Given the description of an element on the screen output the (x, y) to click on. 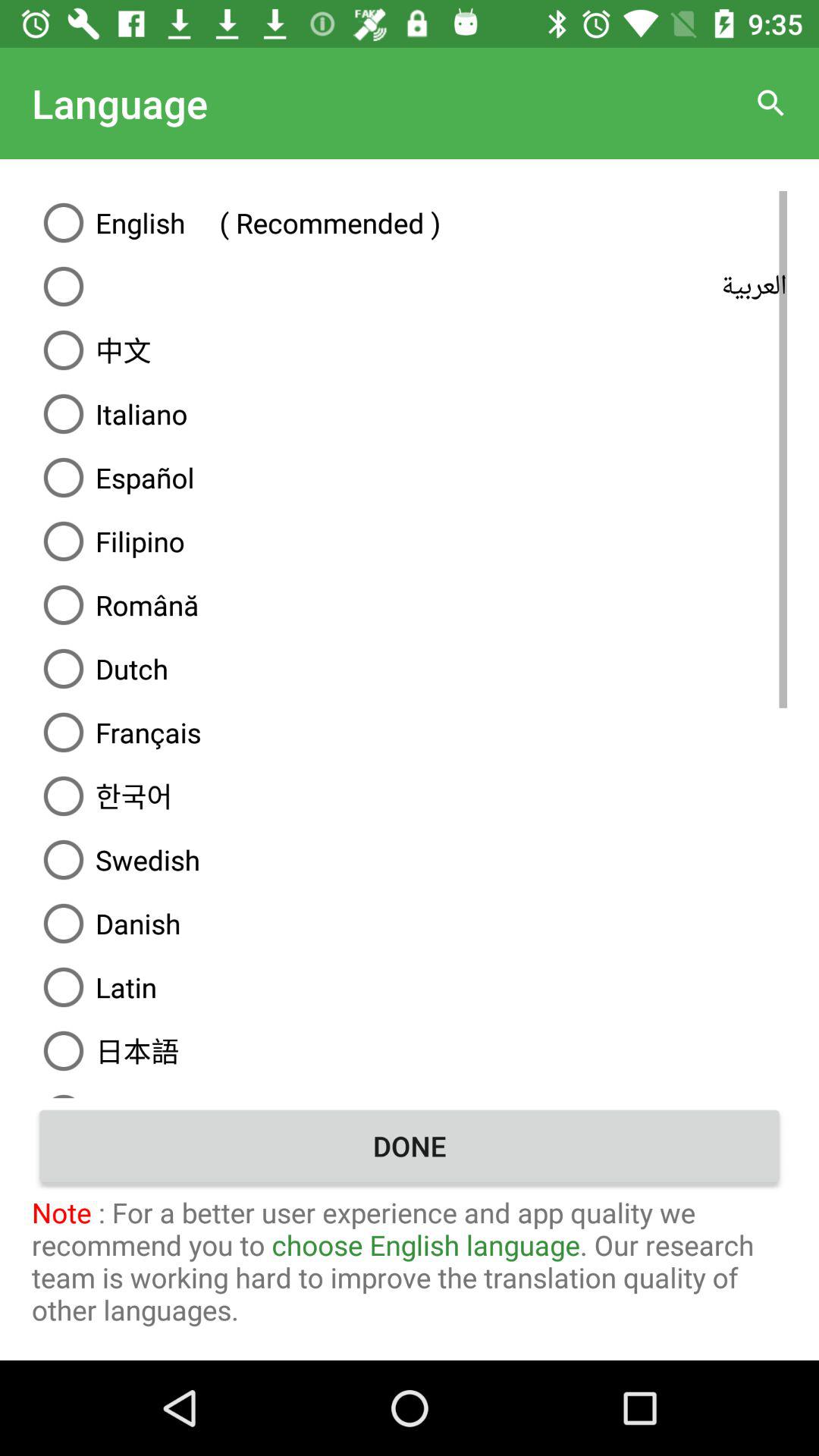
press icon above the done (409, 1090)
